Given the description of an element on the screen output the (x, y) to click on. 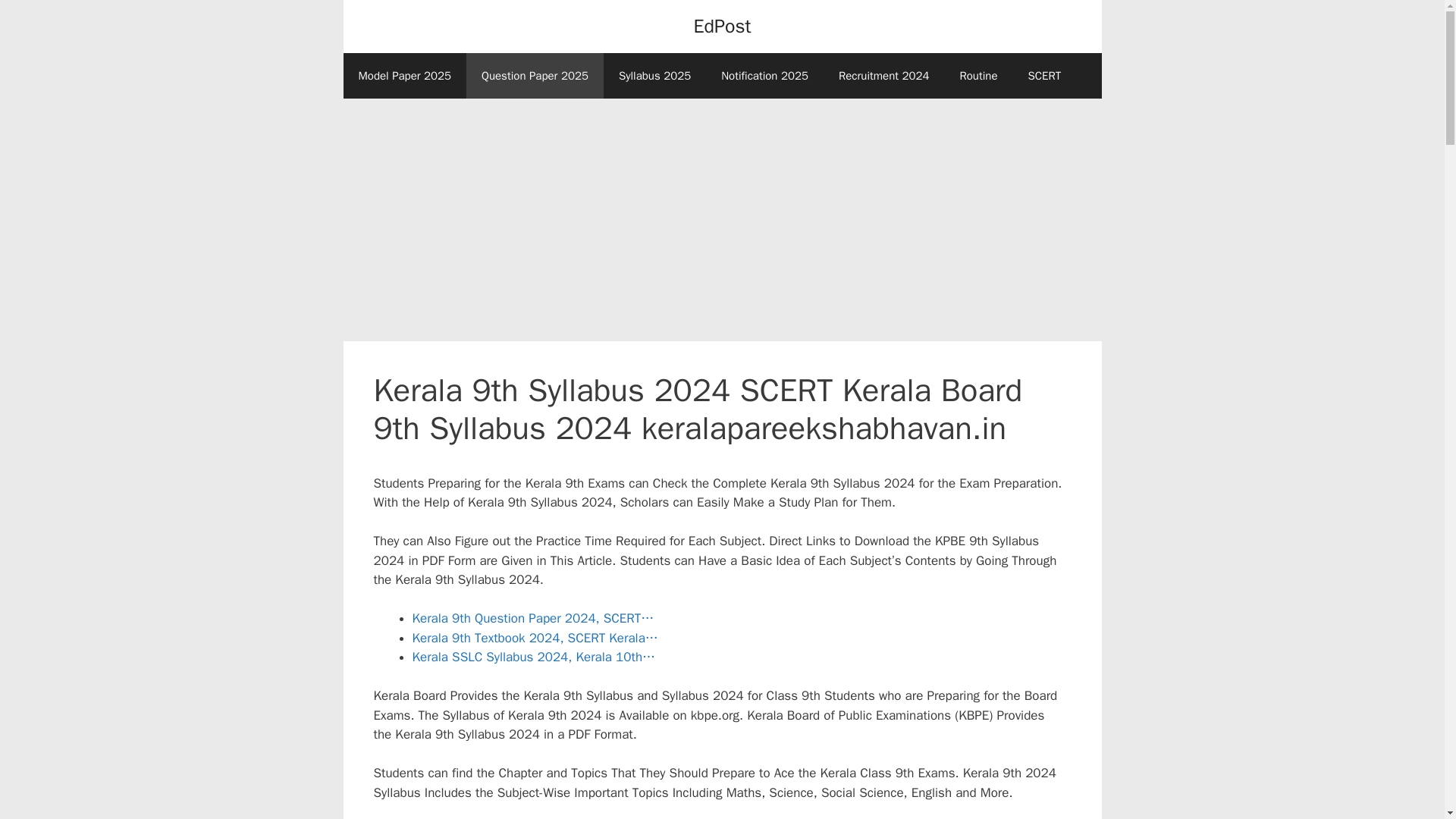
EdPost (722, 25)
Notification 2025 (765, 75)
SCERT (1045, 75)
Routine (977, 75)
Model Paper 2025 (403, 75)
Question Paper 2025 (534, 75)
Syllabus 2025 (655, 75)
Recruitment 2024 (884, 75)
